Given the description of an element on the screen output the (x, y) to click on. 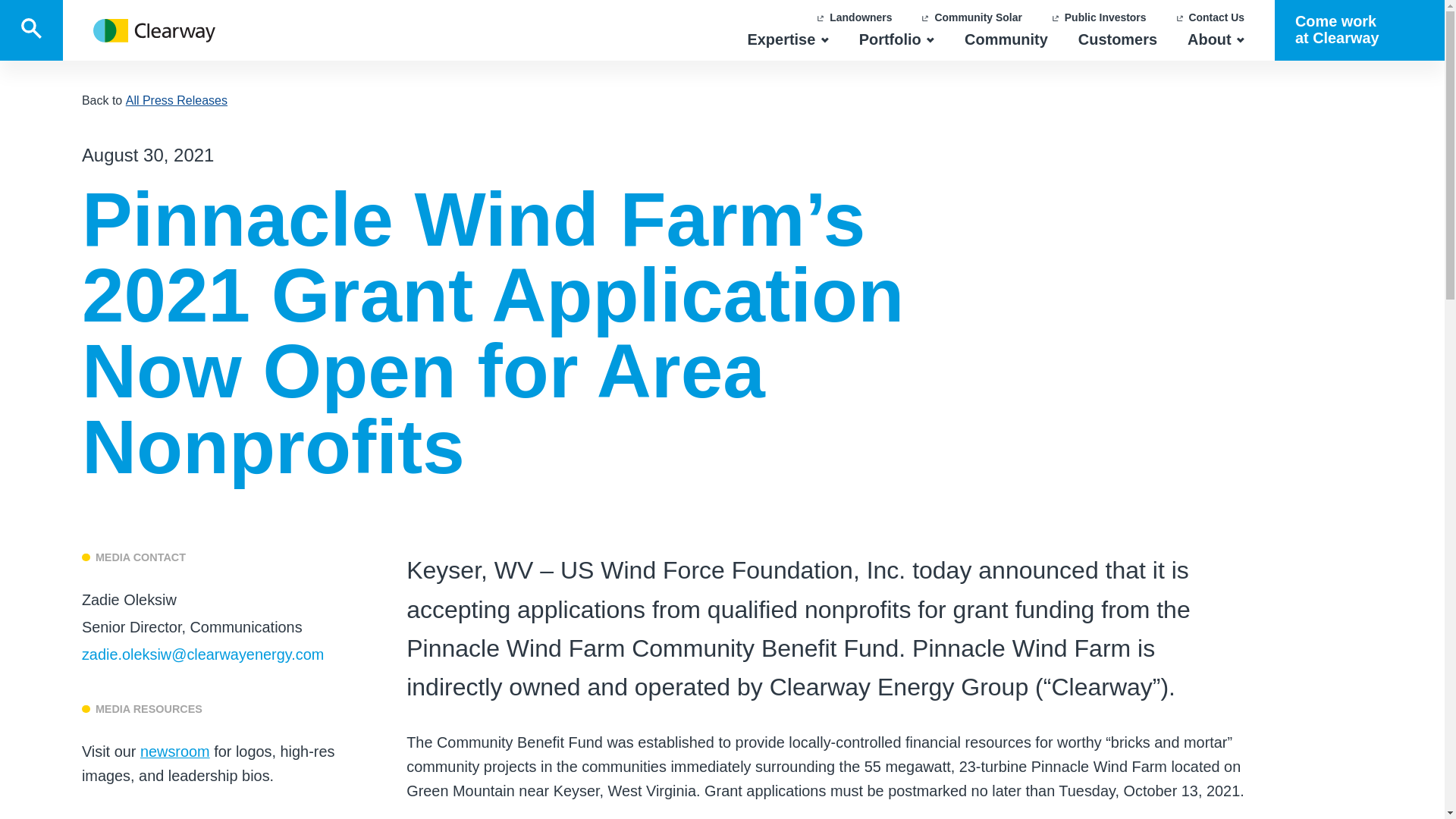
Community (1005, 39)
Landowners (853, 18)
Customers (1117, 39)
Public Investors (1099, 18)
Contact Us (1210, 18)
Toggle site search (787, 39)
Clearway Energy (31, 30)
Community Solar (154, 29)
